Given the description of an element on the screen output the (x, y) to click on. 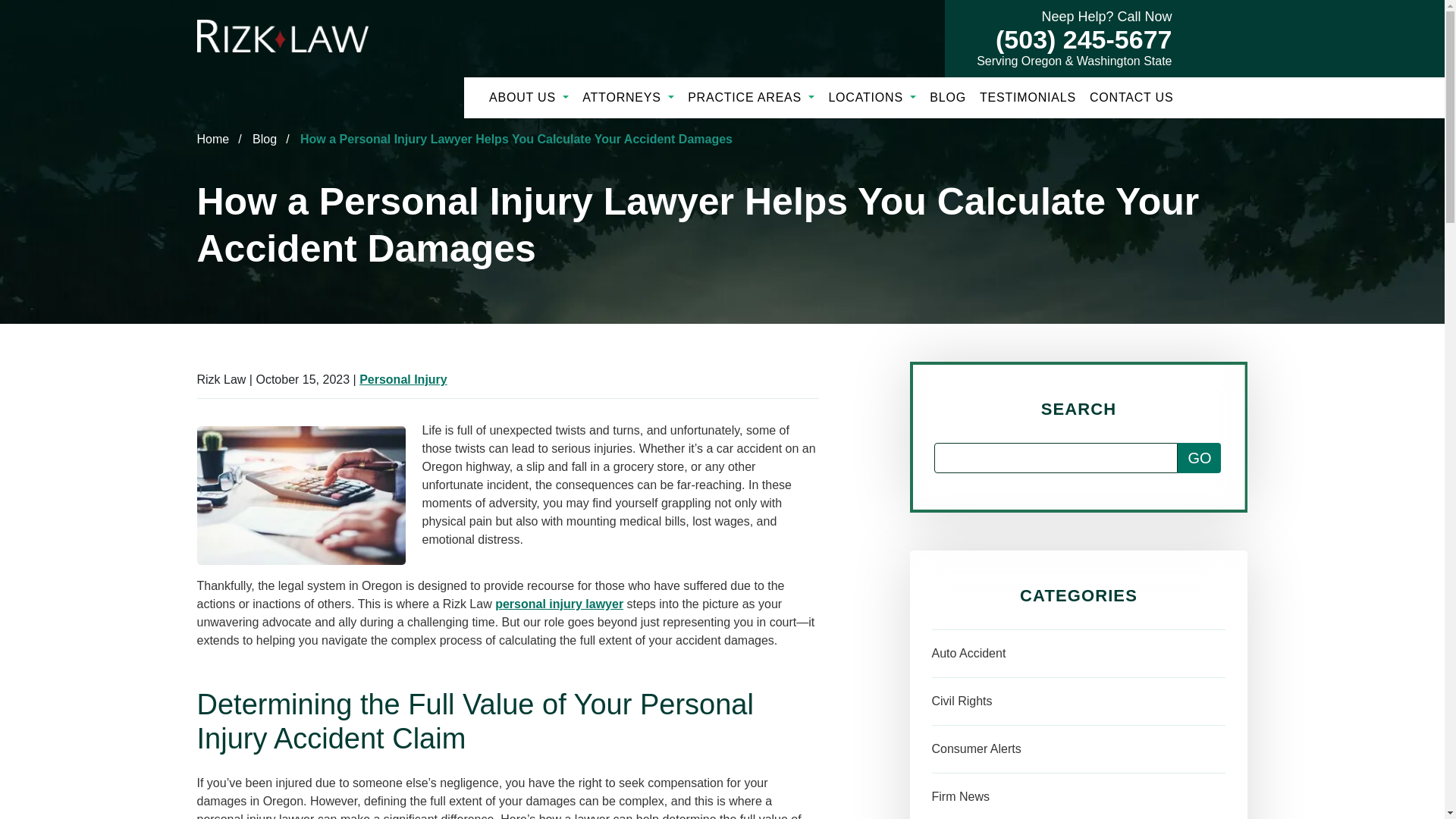
Go (1199, 458)
Practice Areas (751, 96)
About Us (529, 96)
Attorneys (627, 96)
ABOUT US (529, 96)
